Given the description of an element on the screen output the (x, y) to click on. 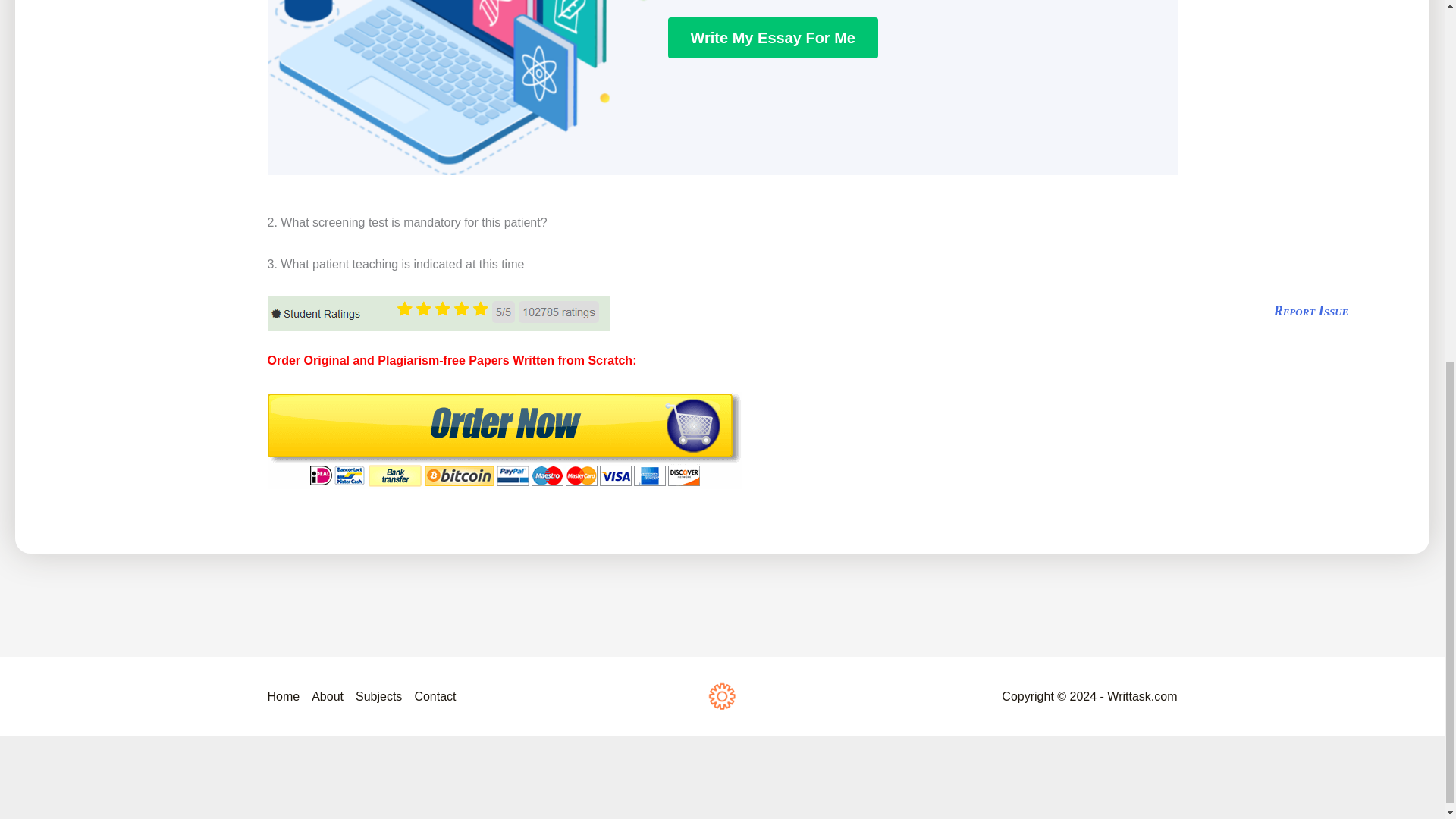
About (327, 696)
Write My Essay For Me (771, 37)
Contact (431, 696)
Subjects (378, 696)
Home (285, 696)
Report Issue (1311, 310)
